Given the description of an element on the screen output the (x, y) to click on. 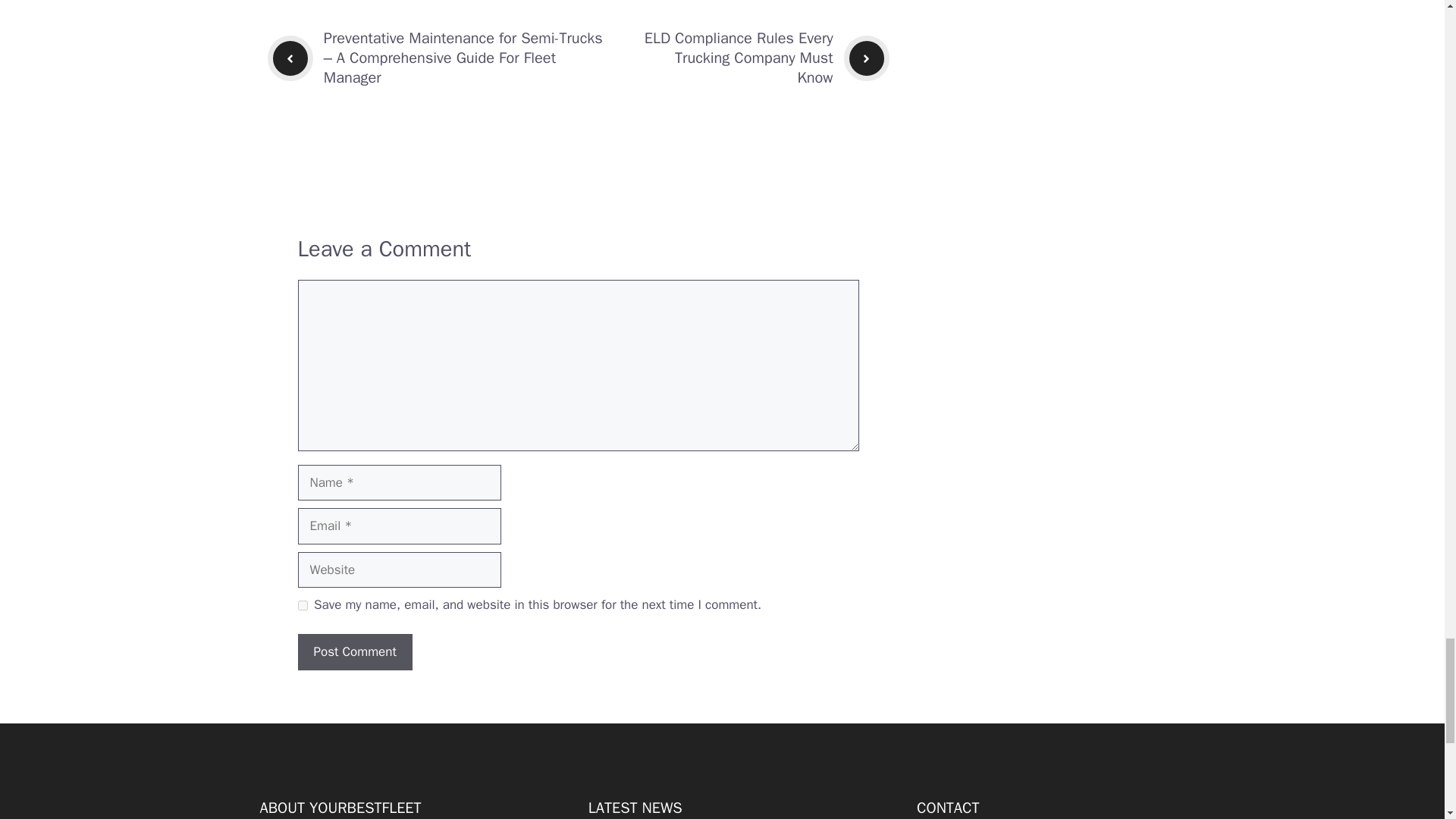
Post Comment (354, 651)
yes (302, 605)
